Given the description of an element on the screen output the (x, y) to click on. 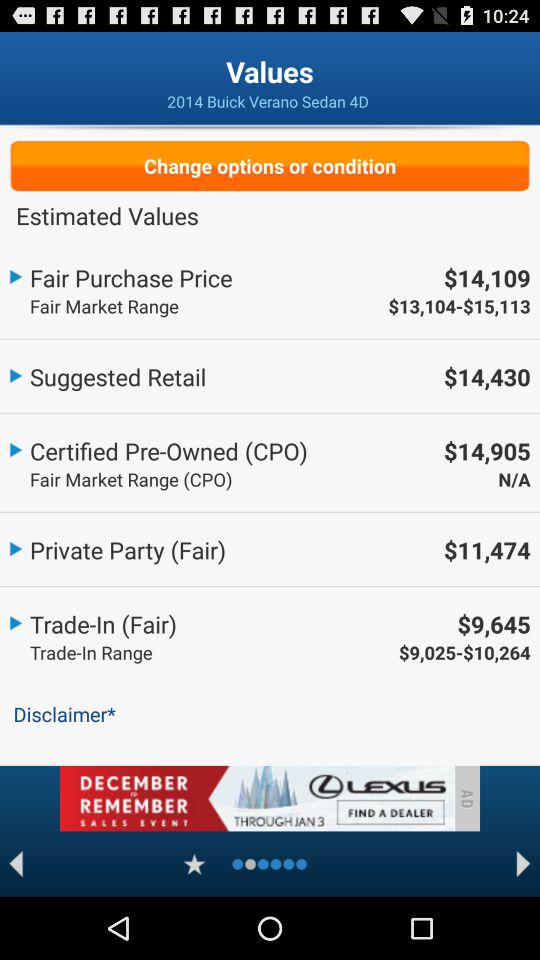
to goto previous option (16, 864)
